Given the description of an element on the screen output the (x, y) to click on. 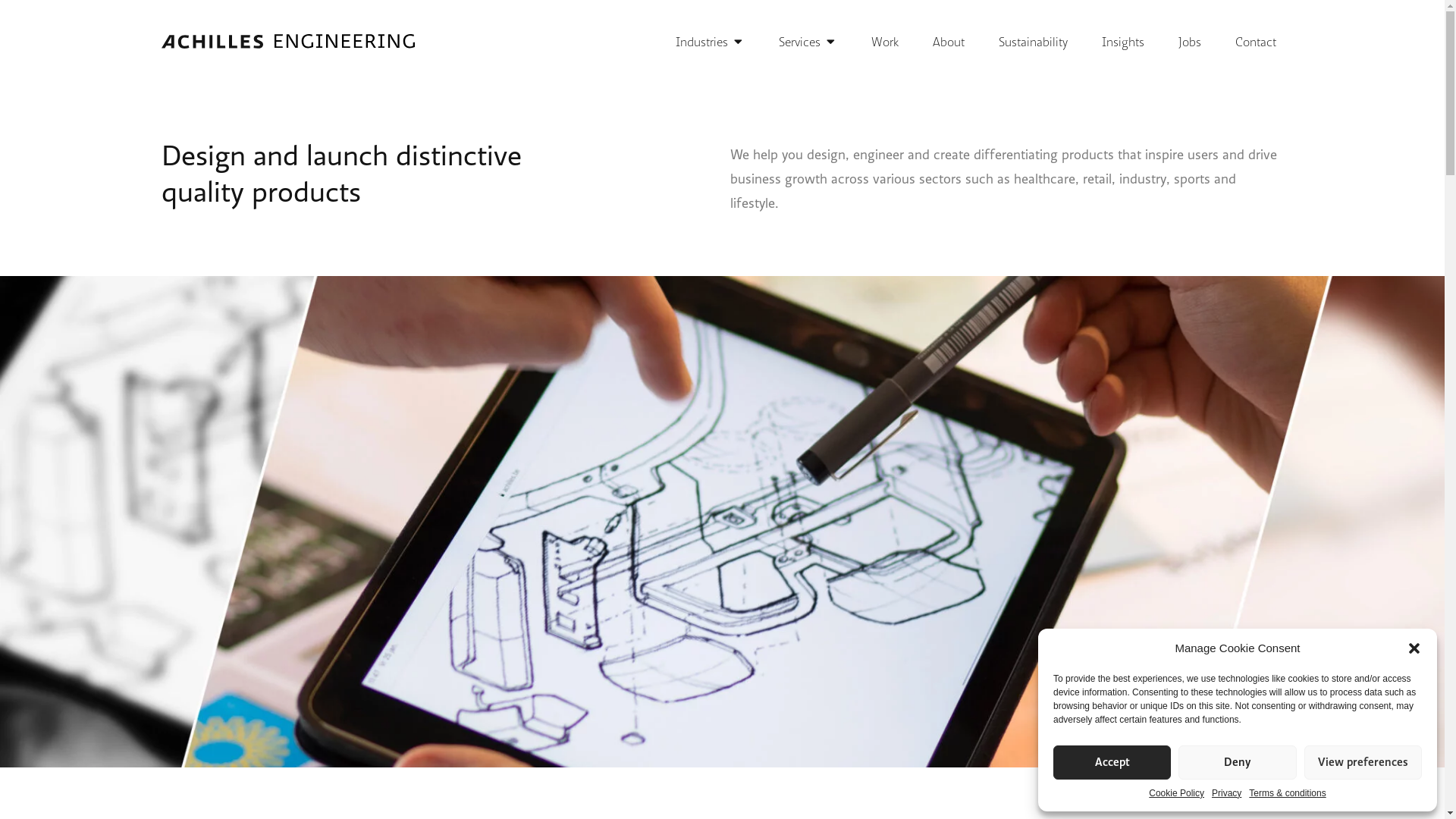
Jobs Element type: text (1189, 41)
Privacy Element type: text (1226, 793)
Insights Element type: text (1122, 41)
Terms & conditions Element type: text (1286, 793)
About Element type: text (948, 41)
View preferences Element type: text (1362, 762)
Work Element type: text (883, 41)
Deny Element type: text (1236, 762)
Contact Element type: text (1254, 41)
Sustainability Element type: text (1031, 41)
Cookie Policy Element type: text (1176, 793)
Accept Element type: text (1111, 762)
